Given the description of an element on the screen output the (x, y) to click on. 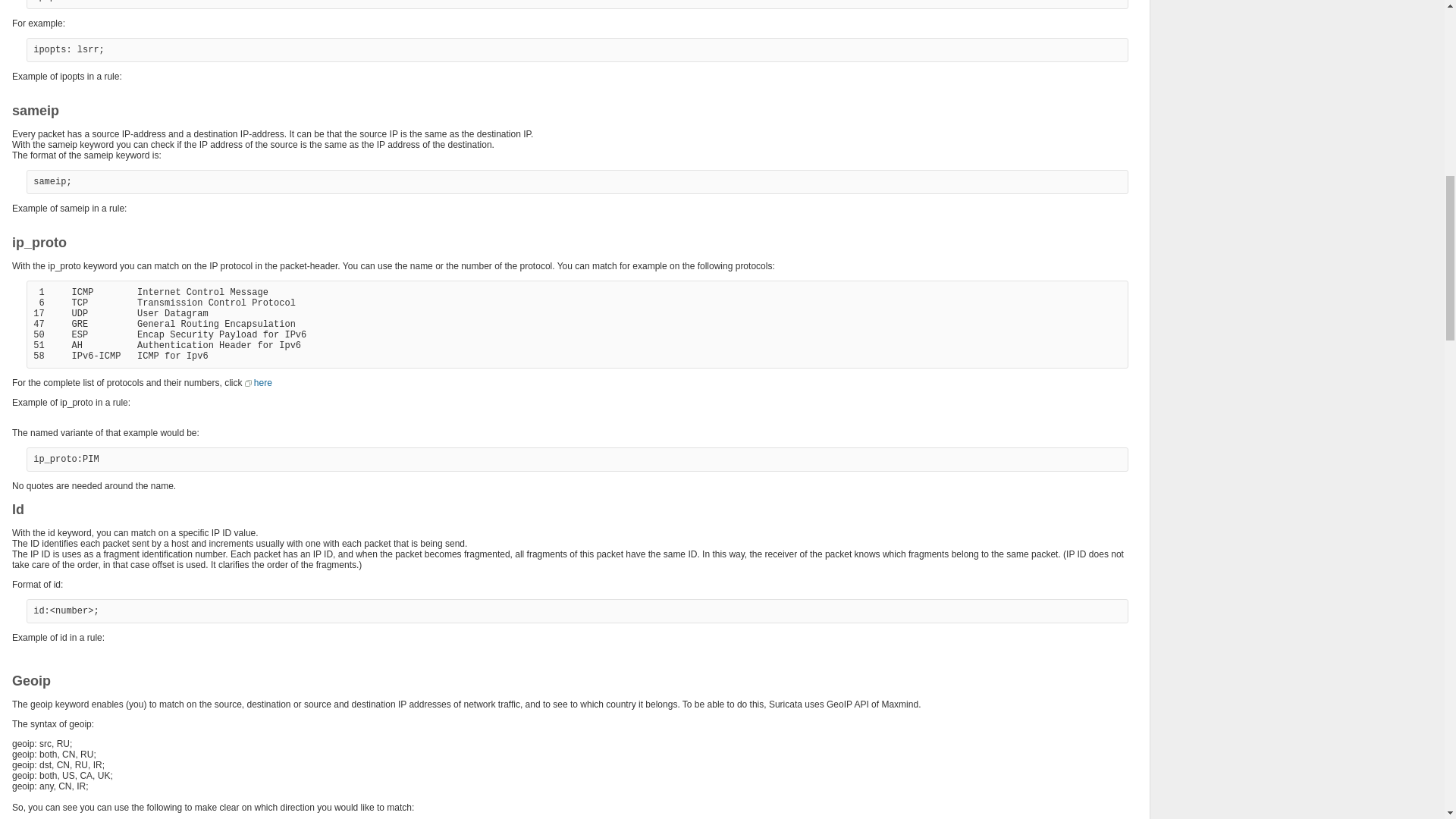
here (258, 382)
